Given the description of an element on the screen output the (x, y) to click on. 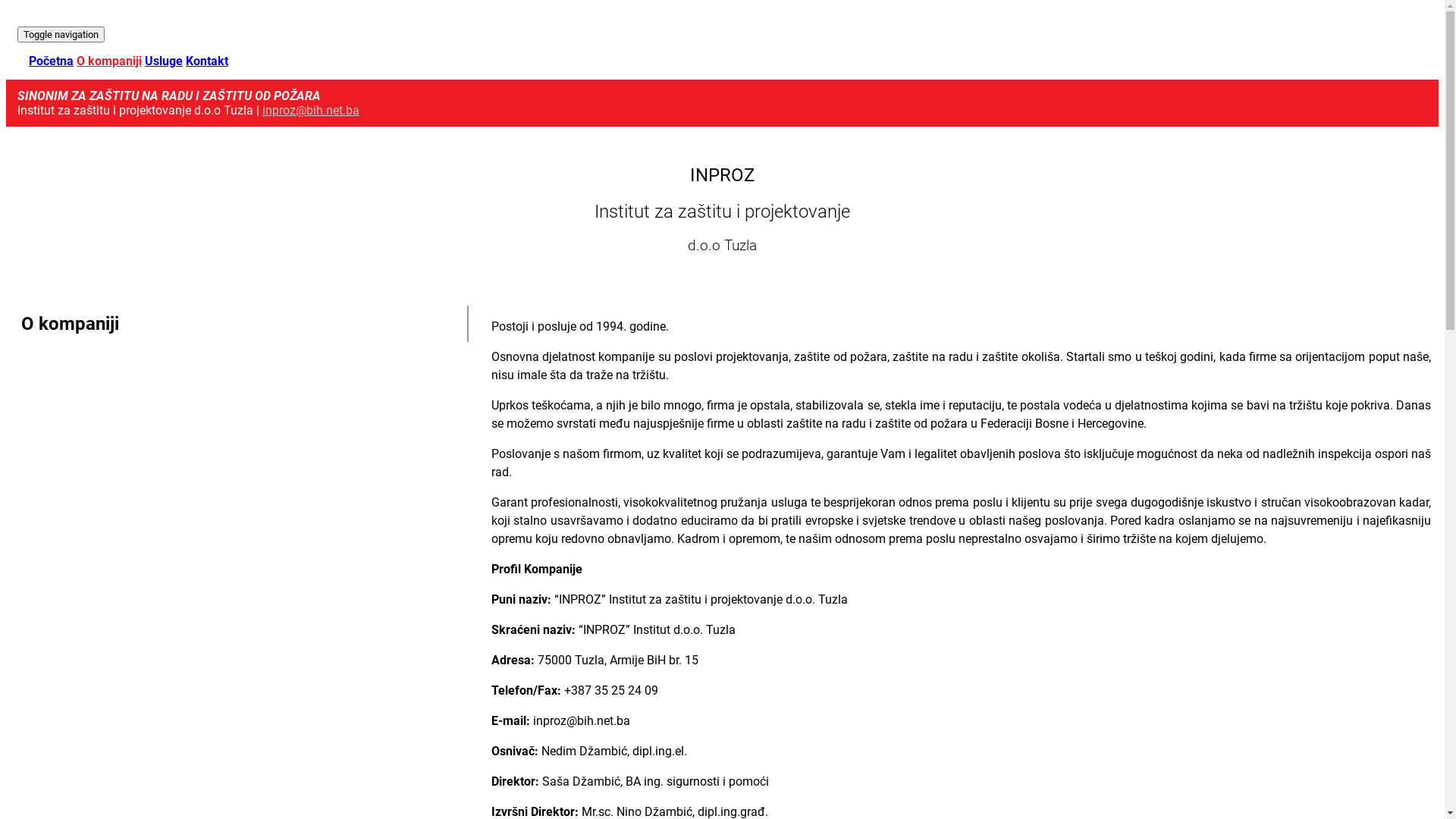
inproz@bih.net.ba Element type: text (310, 110)
Toggle navigation Element type: text (60, 34)
O kompaniji Element type: text (108, 60)
Kontakt Element type: text (206, 60)
Usluge Element type: text (163, 60)
